Given the description of an element on the screen output the (x, y) to click on. 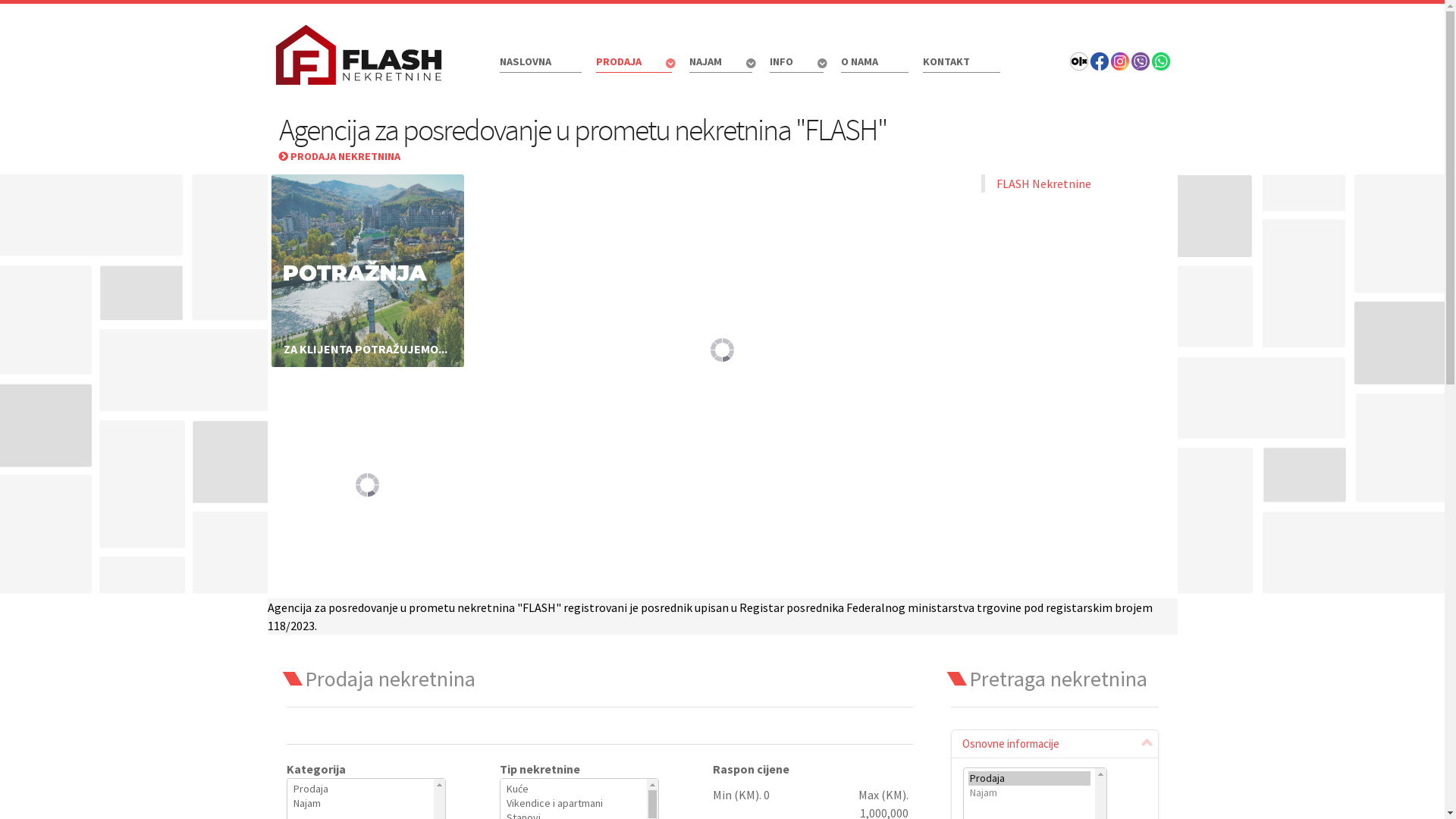
FLASH Nekretnine Element type: text (1043, 183)
PRODAJA NEKRETNINA Element type: text (339, 156)
Osnovne informacije Element type: text (1054, 743)
O NAMA Element type: text (873, 62)
PRODAJA Element type: text (635, 63)
NASLOVNA Element type: text (539, 62)
KONTAKT Element type: text (960, 62)
NAJAM Element type: text (721, 63)
